Given the description of an element on the screen output the (x, y) to click on. 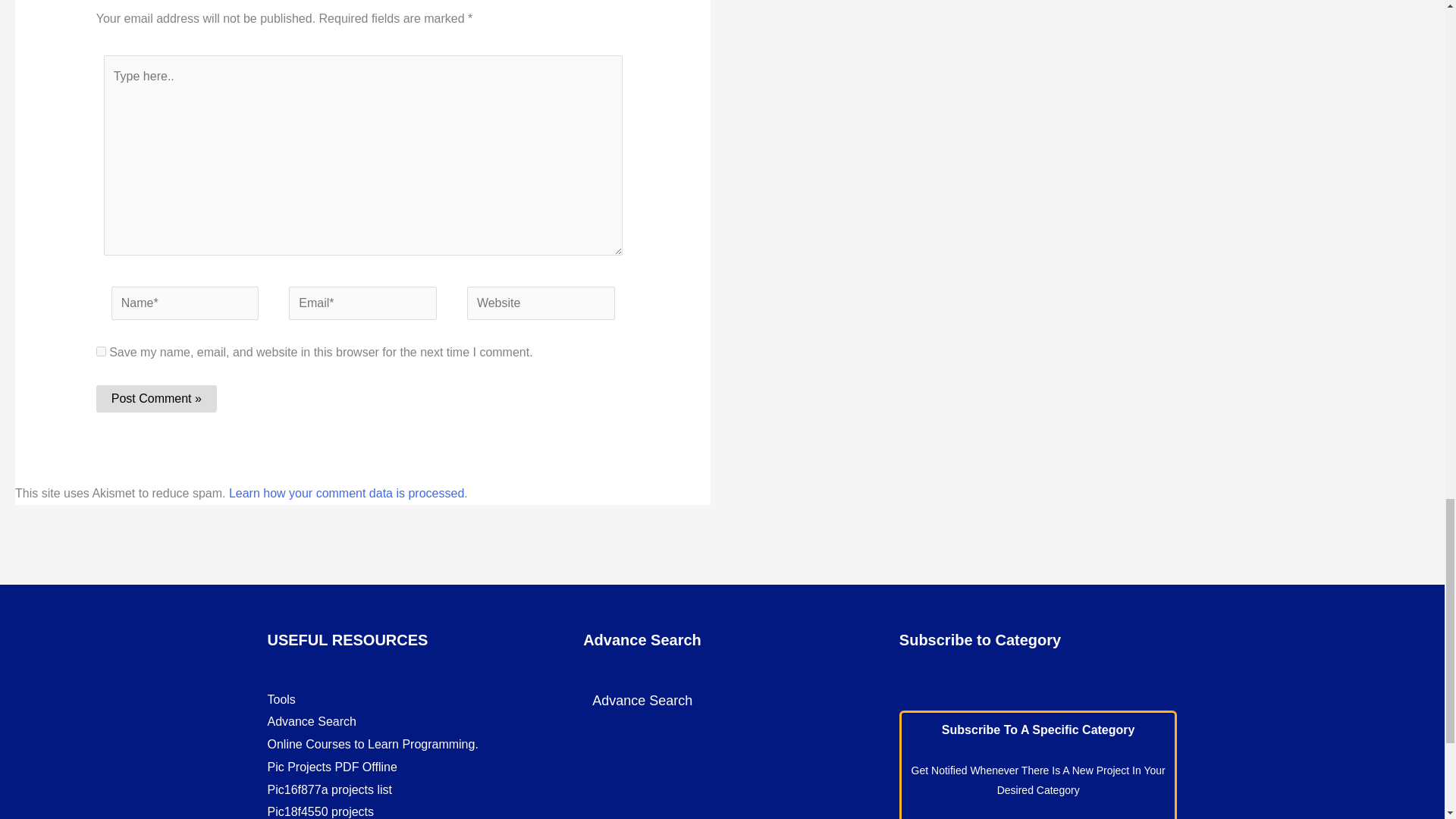
yes (101, 351)
